Given the description of an element on the screen output the (x, y) to click on. 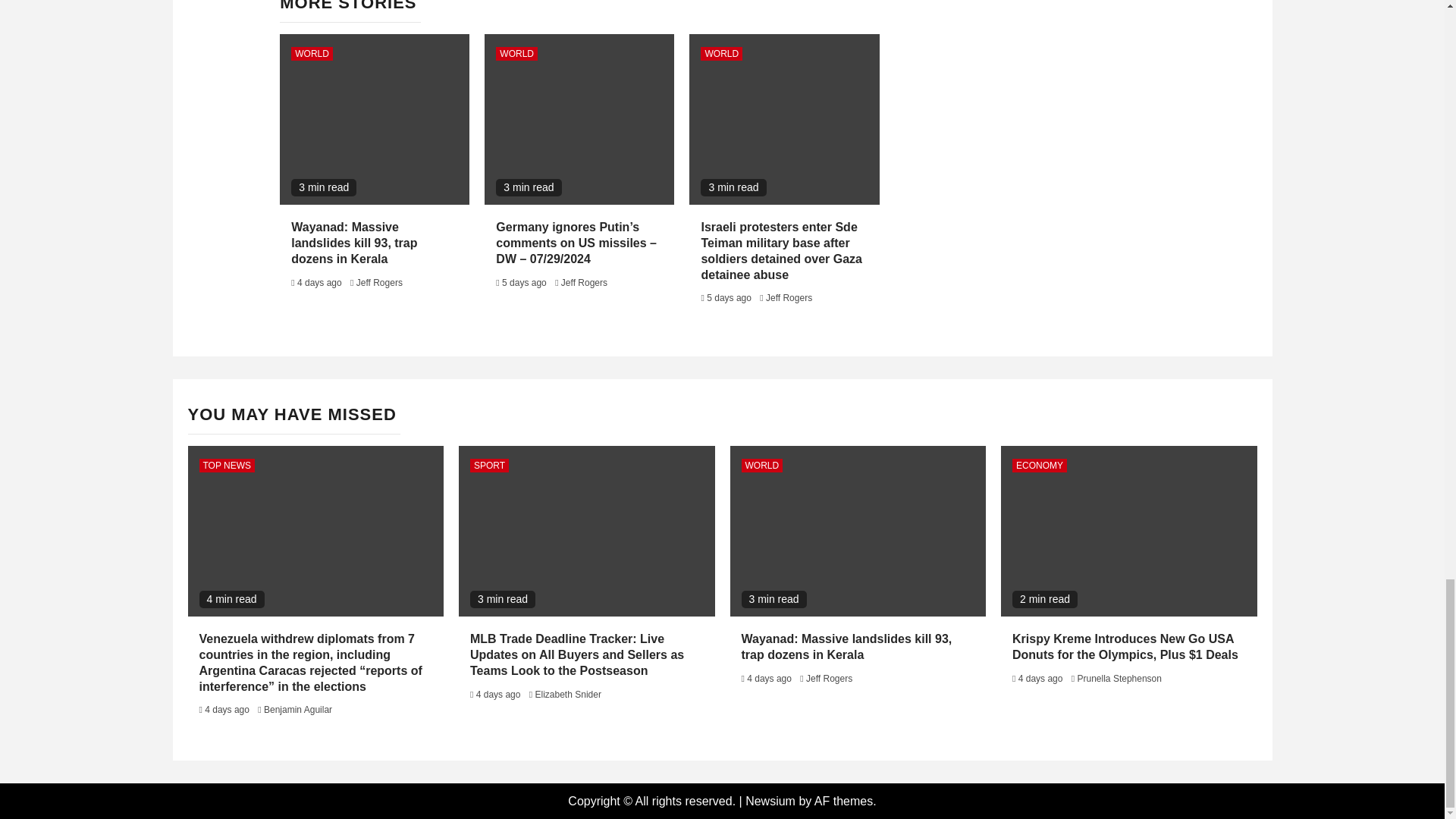
WORLD (721, 53)
Jeff Rogers (583, 282)
Wayanad: Massive landslides kill 93, trap dozens in Kerala (353, 242)
Jeff Rogers (788, 297)
WORLD (312, 53)
Jeff Rogers (379, 282)
WORLD (516, 53)
